Given the description of an element on the screen output the (x, y) to click on. 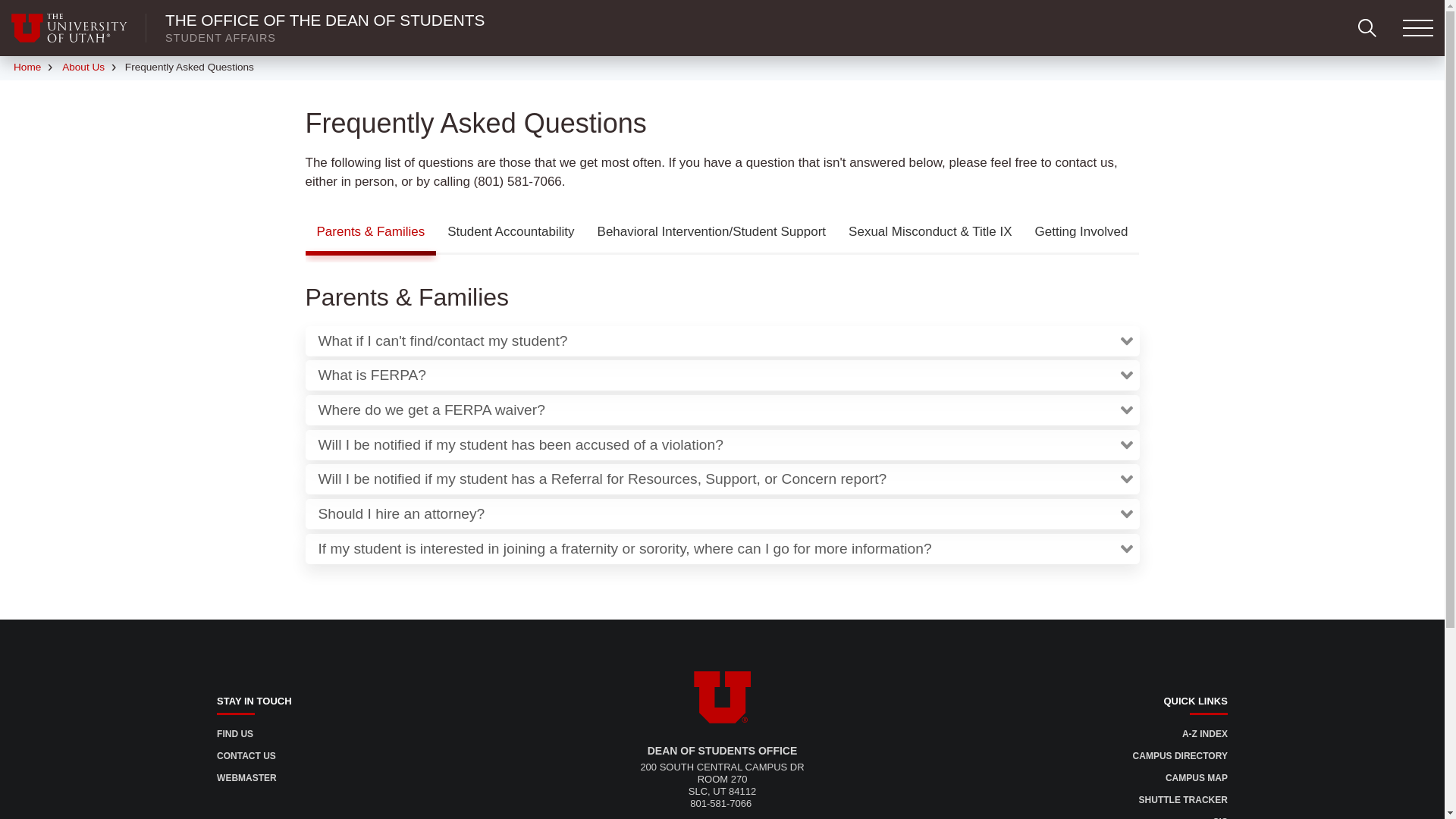
THE OFFICE OF THE DEAN OF STUDENTS (324, 19)
STUDENT AFFAIRS (220, 37)
